Given the description of an element on the screen output the (x, y) to click on. 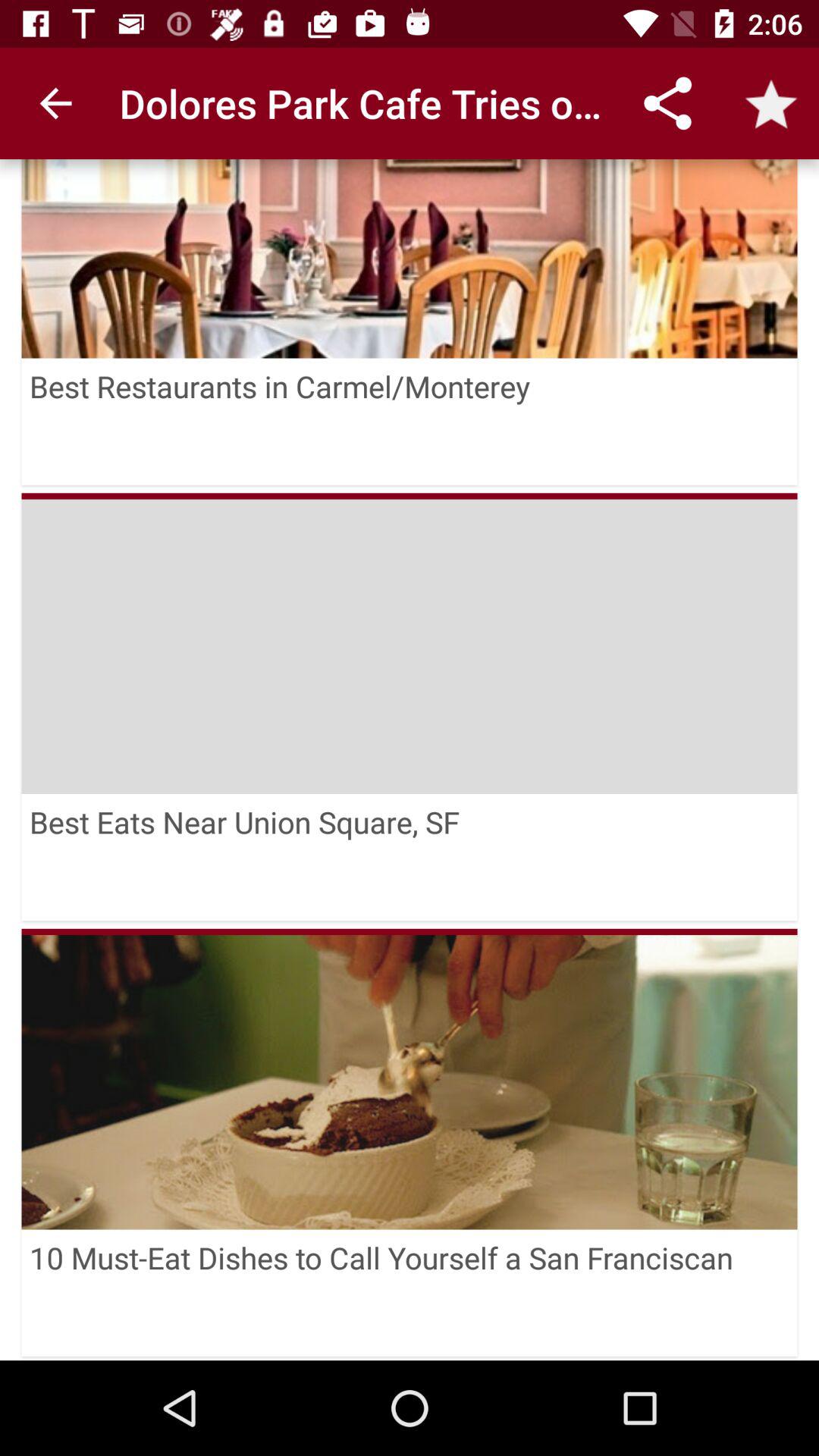
select 10 must eat item (409, 1292)
